Given the description of an element on the screen output the (x, y) to click on. 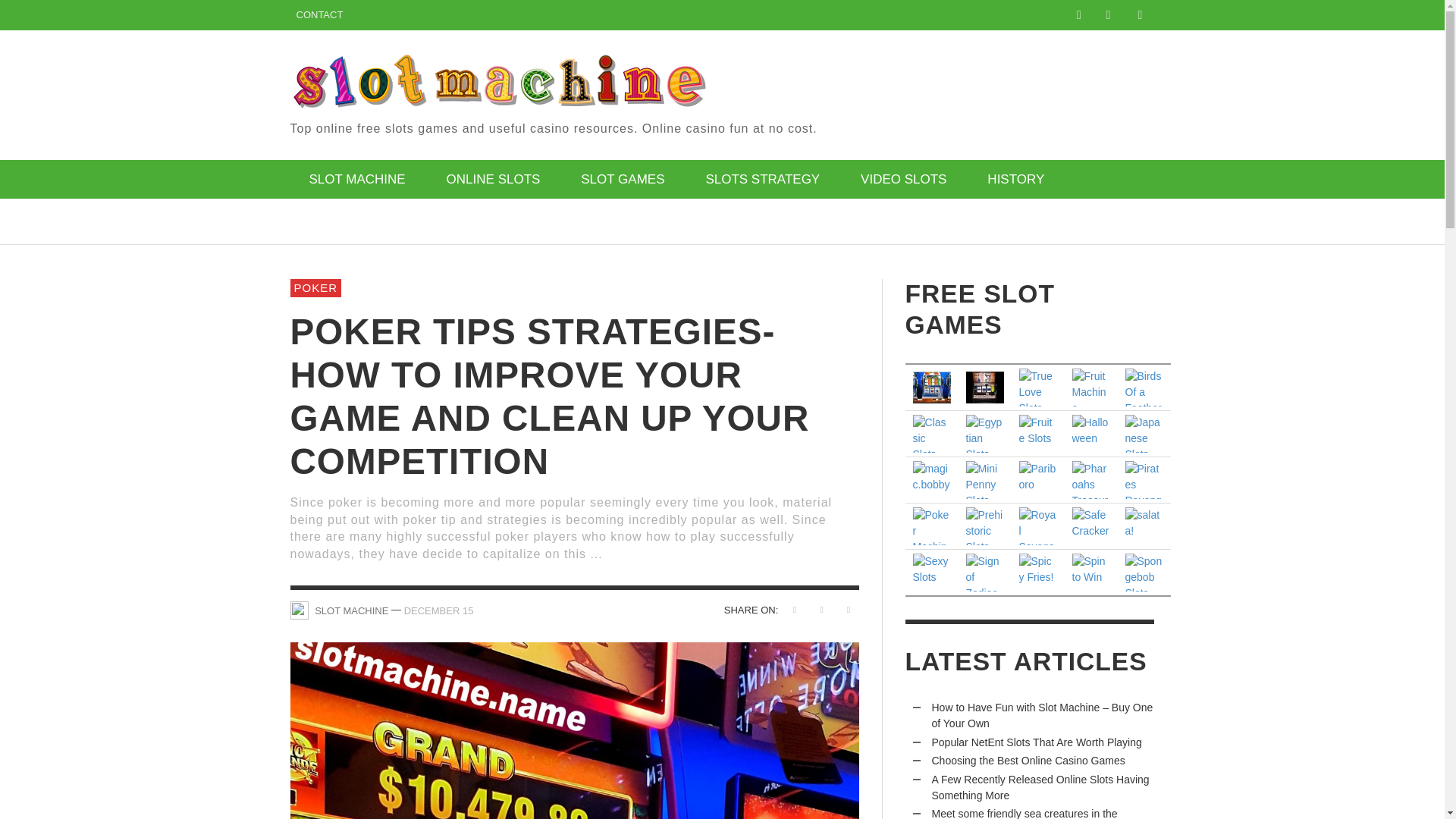
SLOTS STRATEGY (761, 179)
HISTORY (1015, 179)
VIDEO SLOTS (903, 179)
Facebook (1078, 15)
Twitter (1107, 15)
SLOT GAMES (622, 179)
SLOT MACHINE (356, 179)
CONTACT (319, 15)
ONLINE SLOTS (493, 179)
